Given the description of an element on the screen output the (x, y) to click on. 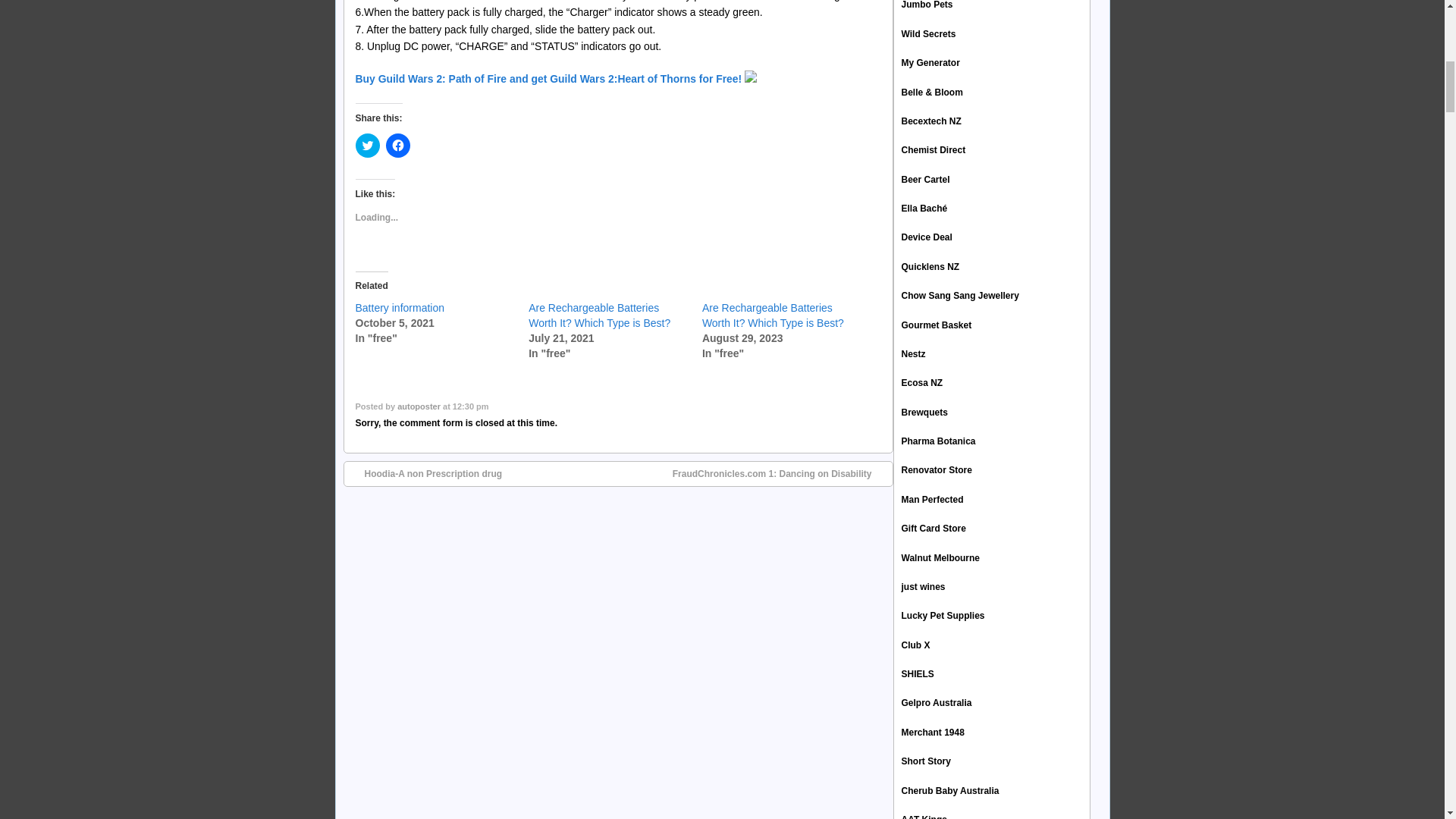
Are Rechargeable Batteries Worth It? Which Type is Best? (772, 315)
Are Rechargeable Batteries Worth It? Which Type is Best? (772, 315)
Battery information (399, 307)
Click to share on Facebook (397, 145)
Click to share on Twitter (366, 145)
Are Rechargeable Batteries Worth It? Which Type is Best? (598, 315)
Are Rechargeable Batteries Worth It? Which Type is Best? (598, 315)
  Hoodia-A non Prescription drug (425, 473)
autoposter (419, 406)
  FraudChronicles.com 1: Dancing on Disability (779, 473)
Battery information (399, 307)
